Given the description of an element on the screen output the (x, y) to click on. 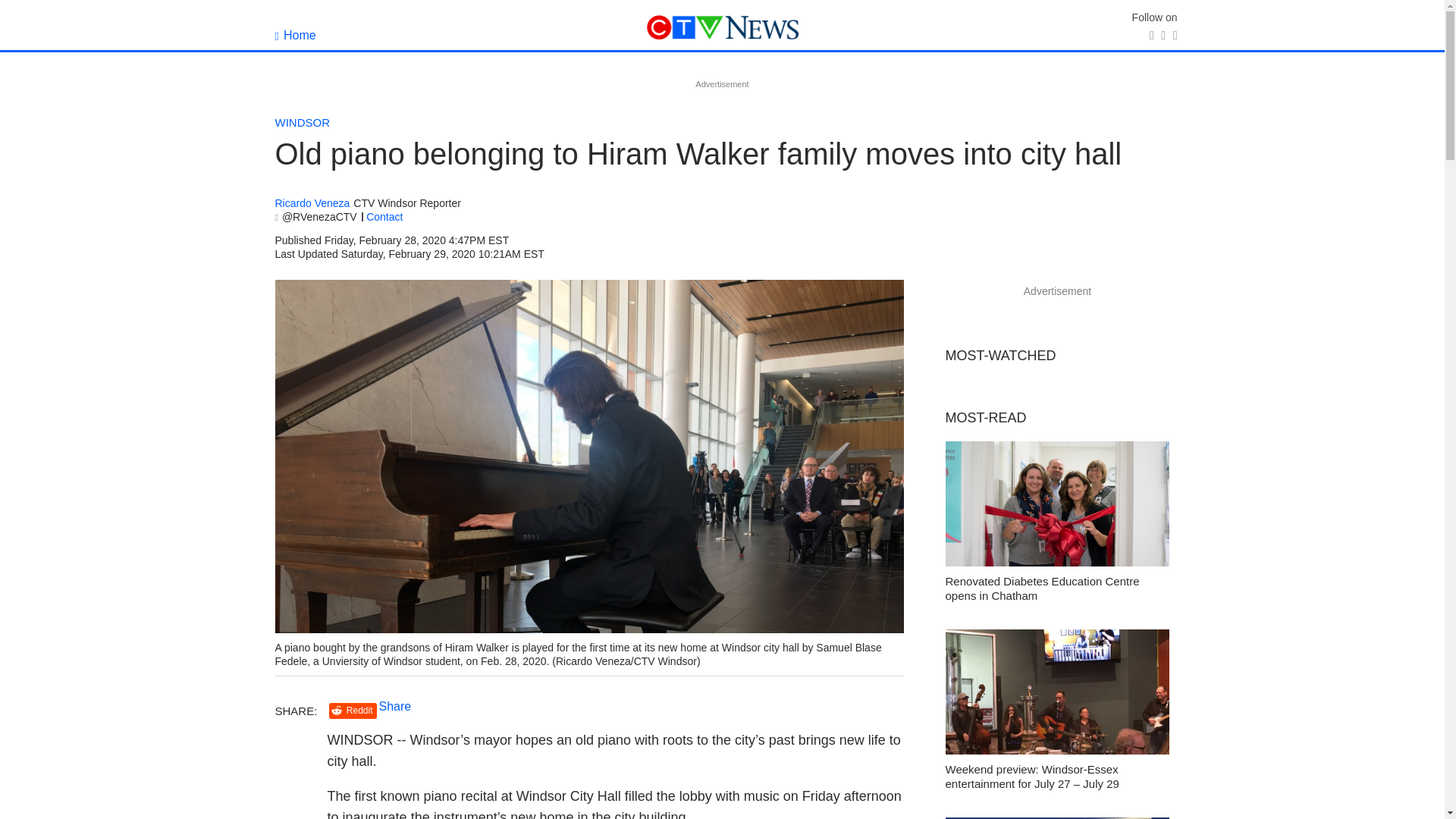
Share (395, 706)
Home (295, 34)
Reddit (353, 710)
WINDSOR (302, 122)
Ricardo Veneza (312, 203)
Contact (384, 216)
